Given the description of an element on the screen output the (x, y) to click on. 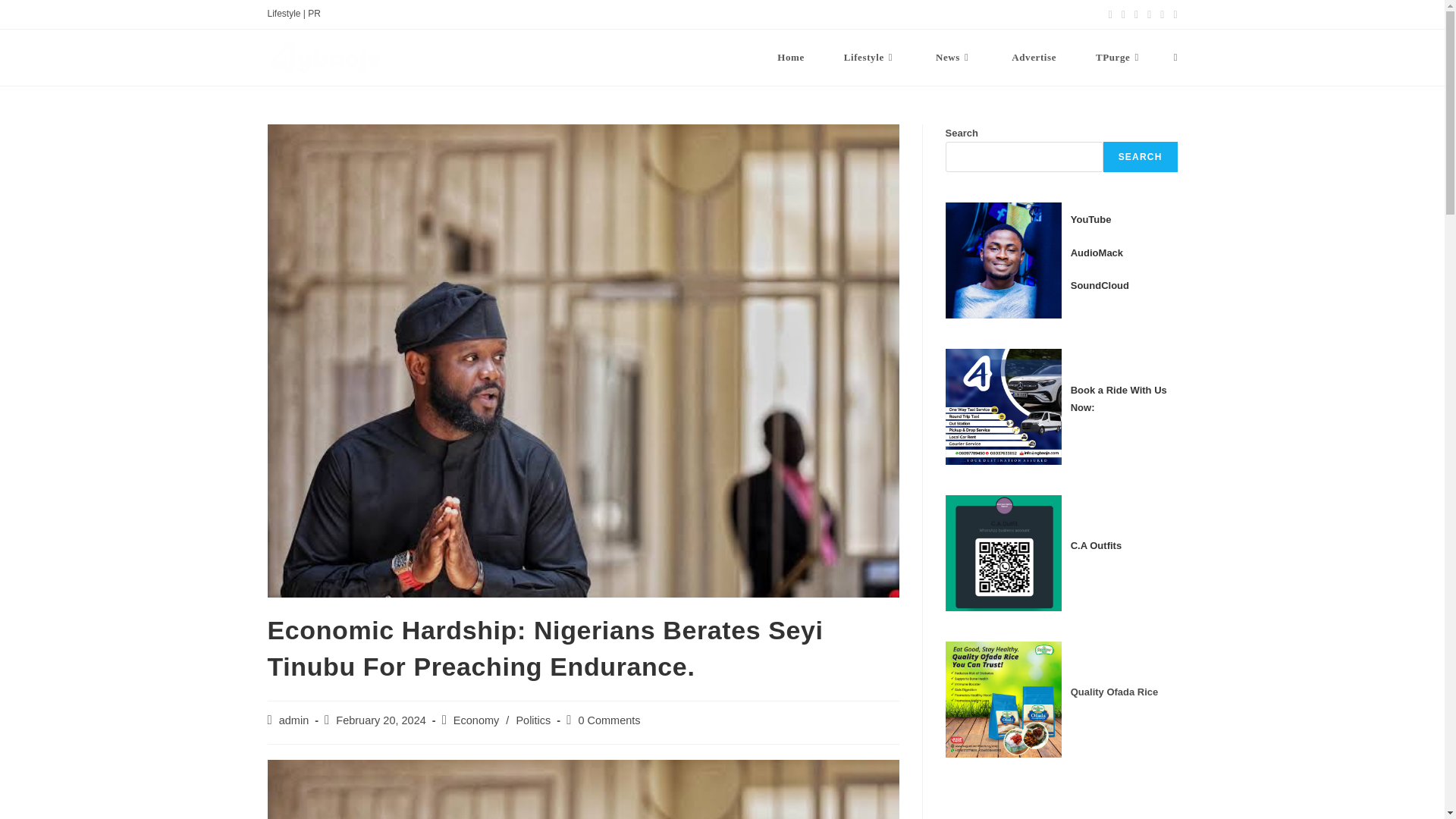
Lifestyle (869, 57)
News (953, 57)
Advertise (1033, 57)
Home (790, 57)
TPurge (1118, 57)
Posts by admin (293, 720)
